Given the description of an element on the screen output the (x, y) to click on. 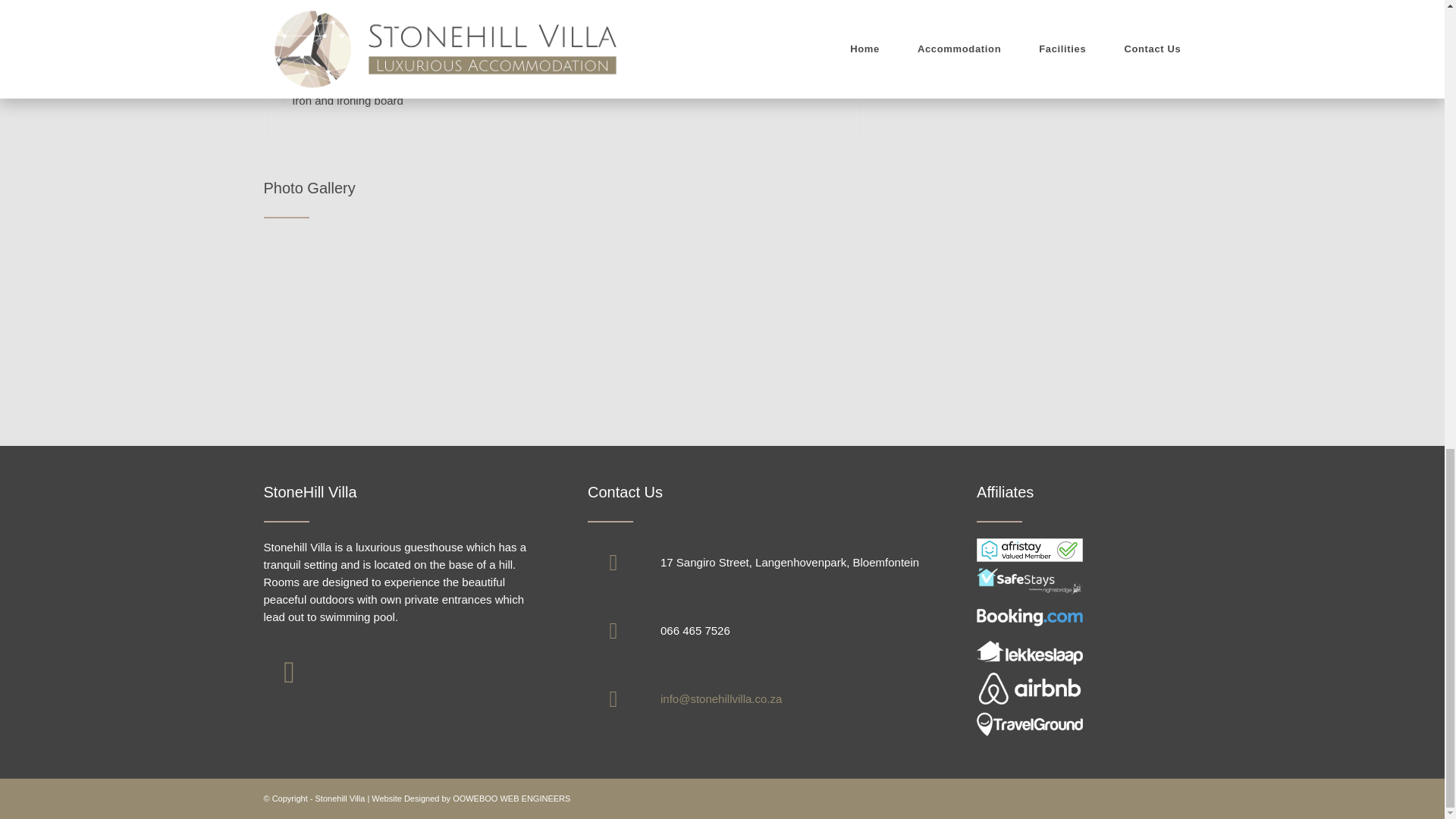
ss-logo01 (1029, 581)
OOWEBOO WEB ENGINEERS (511, 798)
affiliates - booking com (1029, 617)
affiliates - Lekkeslaap (1029, 653)
066 465 7526 (695, 630)
affiliates - TravelGround (1029, 724)
affiliates - Airbnb (1029, 688)
